Given the description of an element on the screen output the (x, y) to click on. 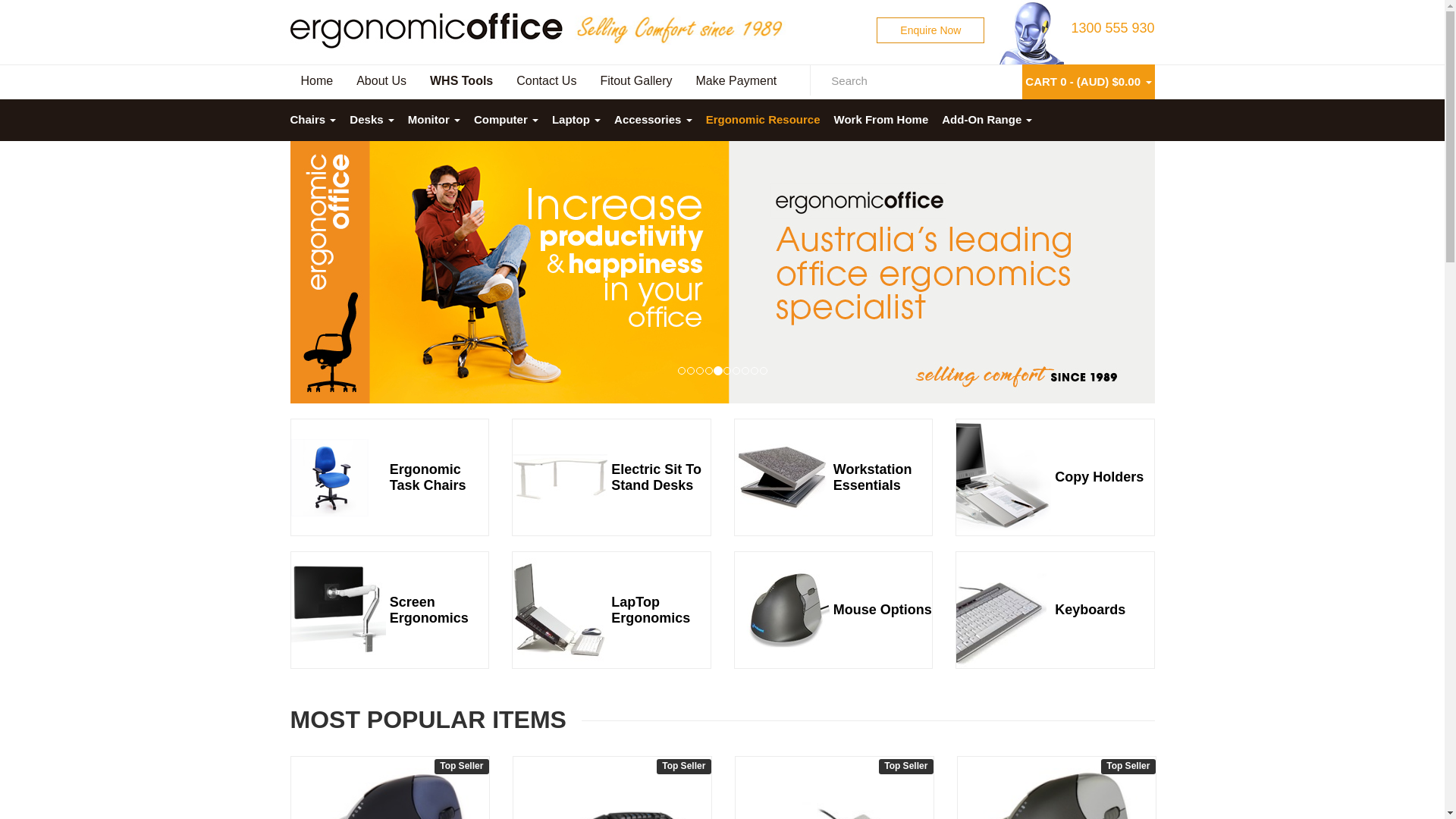
Copy Holders Element type: text (1103, 477)
Monitor Element type: text (434, 120)
CART 0 - (AUD) $0.00 Element type: text (1082, 80)
1300 555 930 Element type: text (1112, 27)
Chairs Element type: text (315, 120)
Enquire Now Element type: text (930, 30)
Desks Element type: text (371, 120)
Electric Sit To Stand Desks Element type: text (660, 476)
Fitout Gallery Element type: text (636, 81)
Mouse Options Element type: text (882, 610)
Workstation Essentials Element type: text (882, 476)
Ergonomic Resource Element type: text (763, 120)
Add-On Range Element type: text (986, 120)
Screen Ergonomics Element type: text (438, 609)
About Us Element type: text (382, 81)
Laptop Element type: text (576, 120)
ergonomicoffice Element type: hover (425, 30)
Make Payment Element type: text (737, 81)
Contact Us Element type: text (547, 81)
Home Element type: text (317, 81)
Computer Element type: text (506, 120)
Ergonomic Task Chairs Element type: text (438, 476)
WHS Tools Element type: text (462, 81)
Work From Home Element type: text (880, 120)
Accessories Element type: text (653, 120)
LapTop Ergonomics Element type: text (660, 609)
Keyboards Element type: text (1103, 610)
Search Element type: text (820, 80)
